Given the description of an element on the screen output the (x, y) to click on. 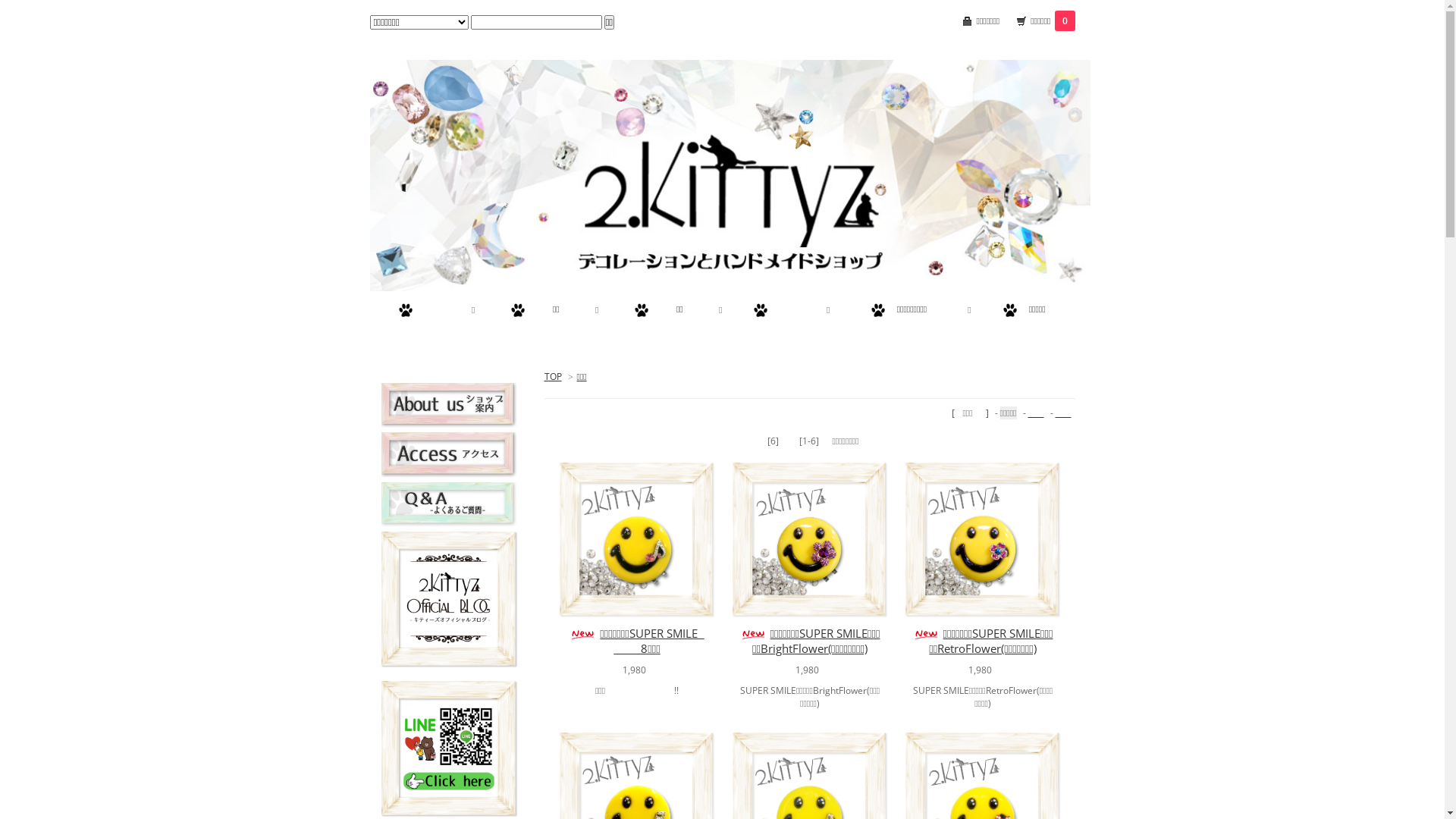
TOP Element type: text (552, 376)
